Given the description of an element on the screen output the (x, y) to click on. 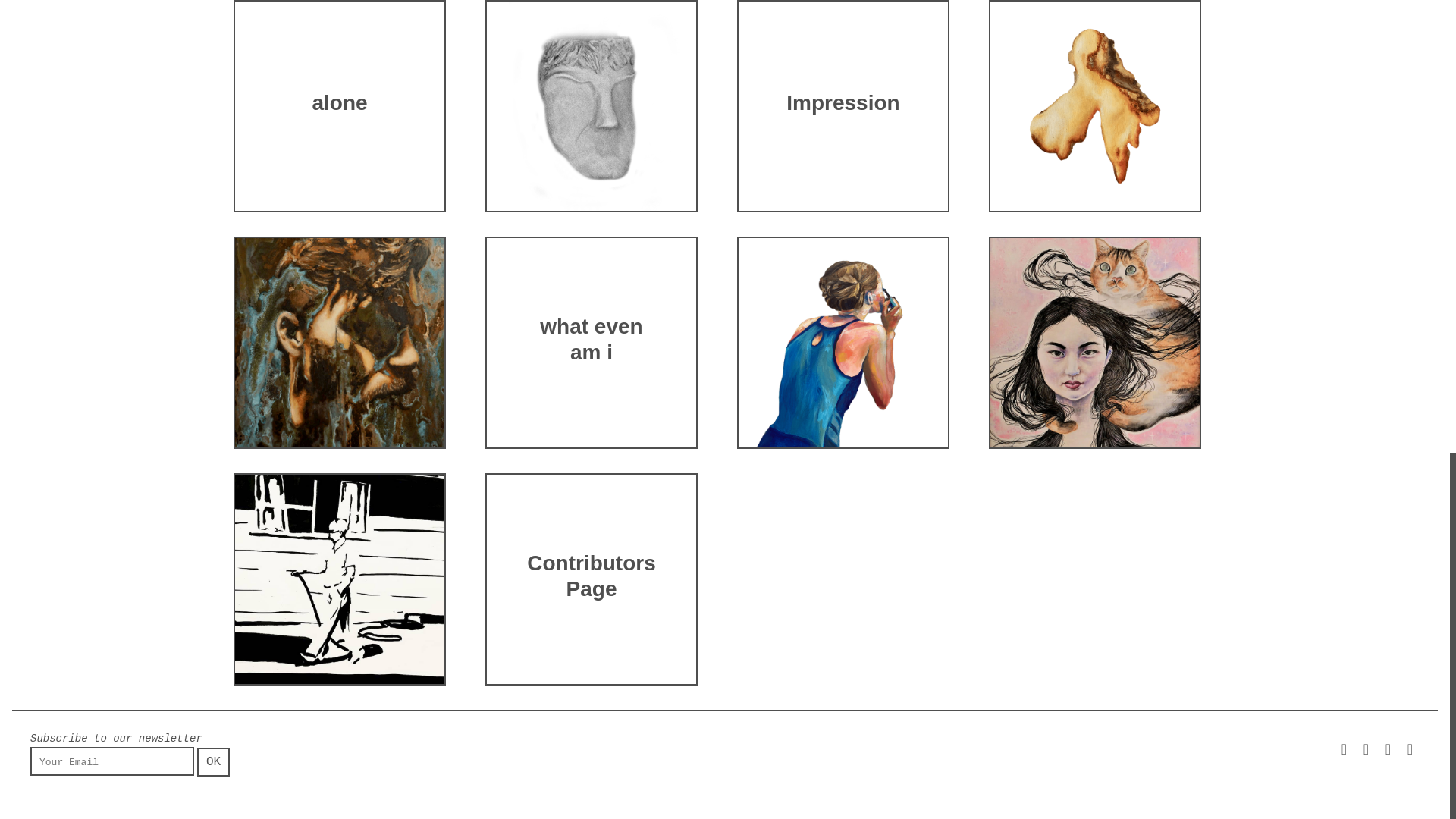
what even am i (590, 342)
Impression (842, 106)
alone (339, 106)
Contributors Page (590, 578)
